Given the description of an element on the screen output the (x, y) to click on. 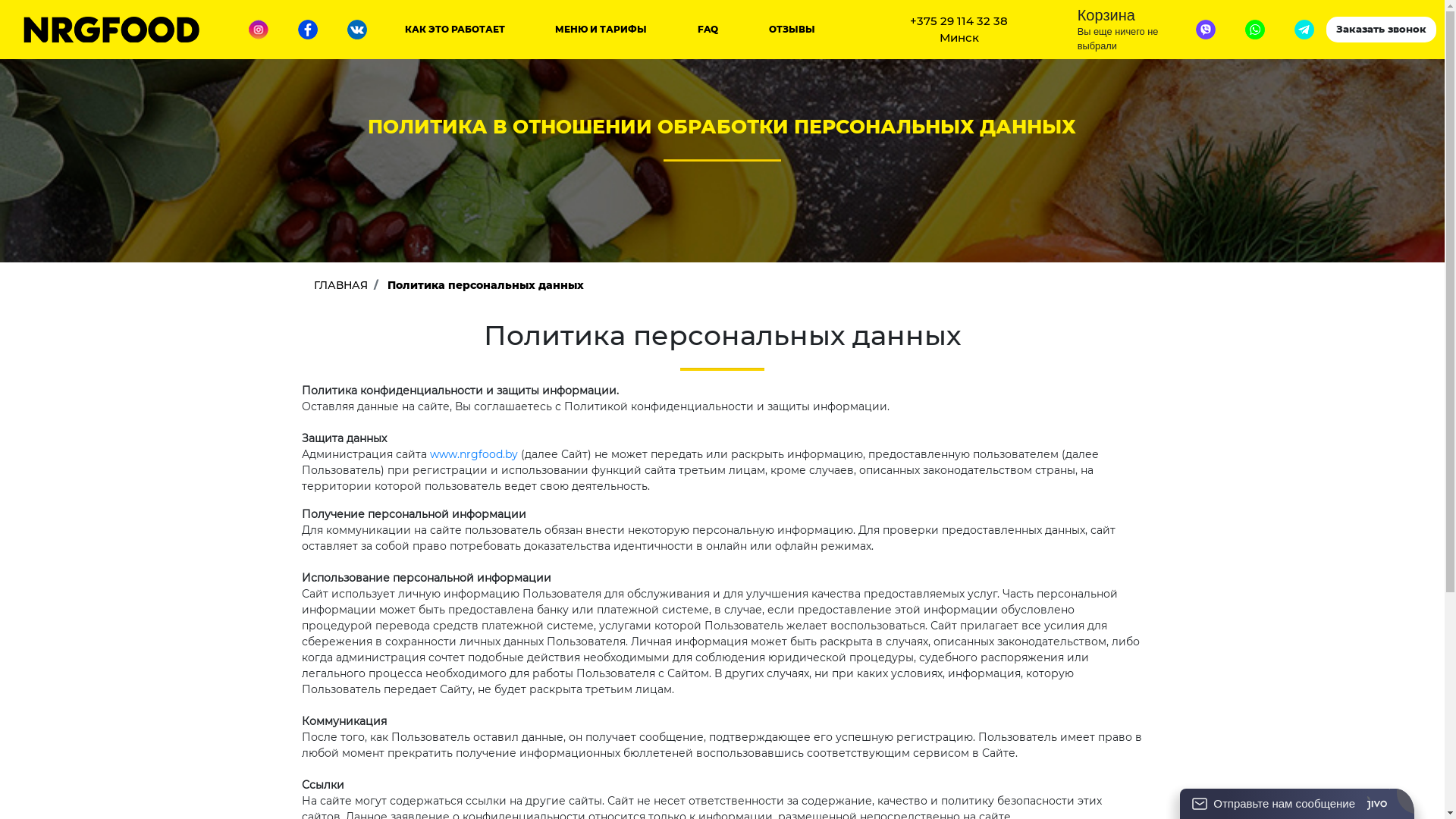
FAQ Element type: text (707, 29)
www.nrgfood.by Element type: text (473, 454)
+375 29 114 32 38 Element type: text (958, 21)
